Given the description of an element on the screen output the (x, y) to click on. 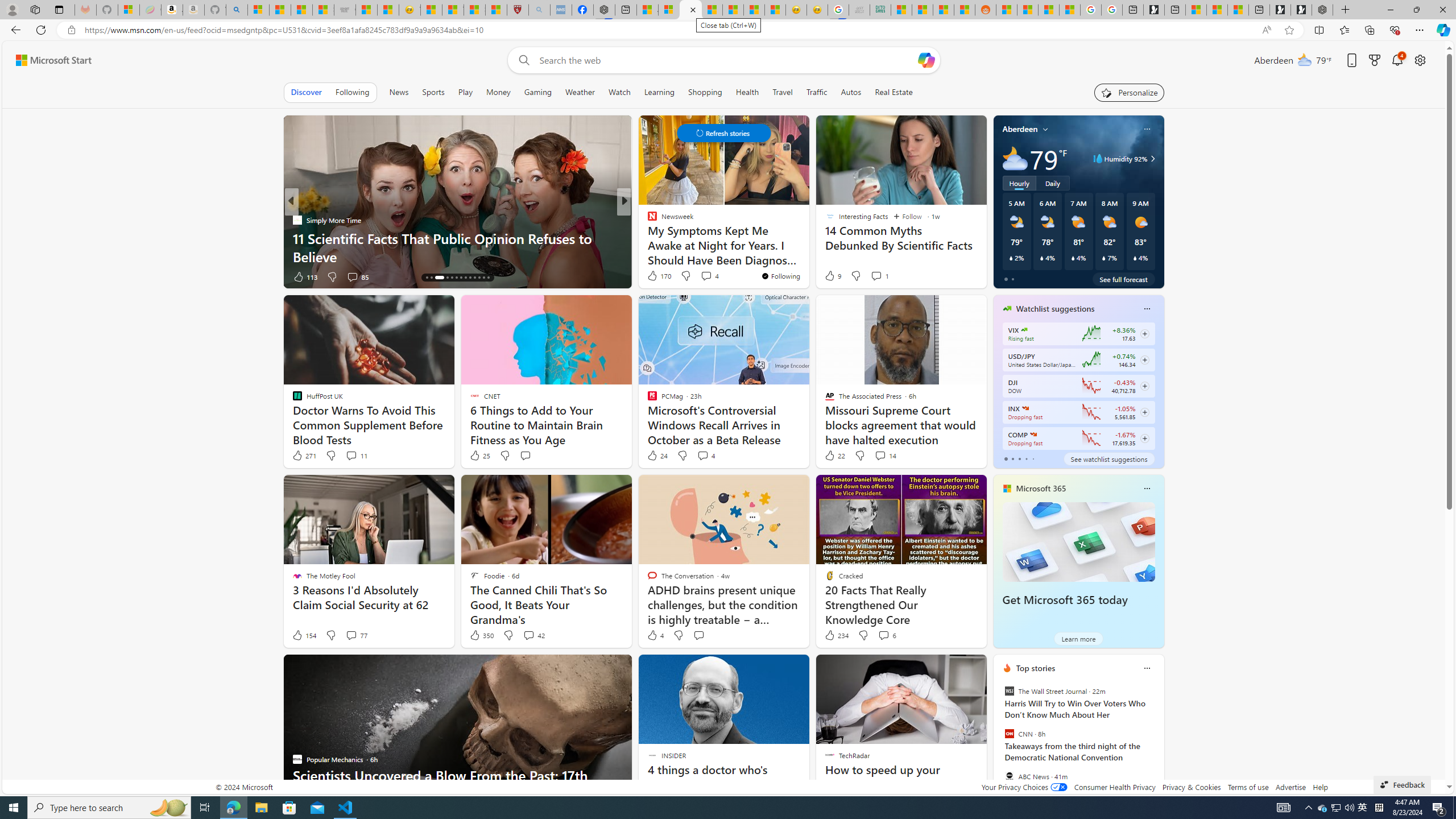
Class: icon-img (1146, 668)
11 Scientific Facts That Public Opinion Refuses to Believe (457, 247)
FOX News (647, 219)
Traffic (816, 92)
Learn more (1078, 638)
Watch (619, 92)
Mostly cloudy (1014, 158)
CBOE Market Volatility Index (1023, 329)
